Given the description of an element on the screen output the (x, y) to click on. 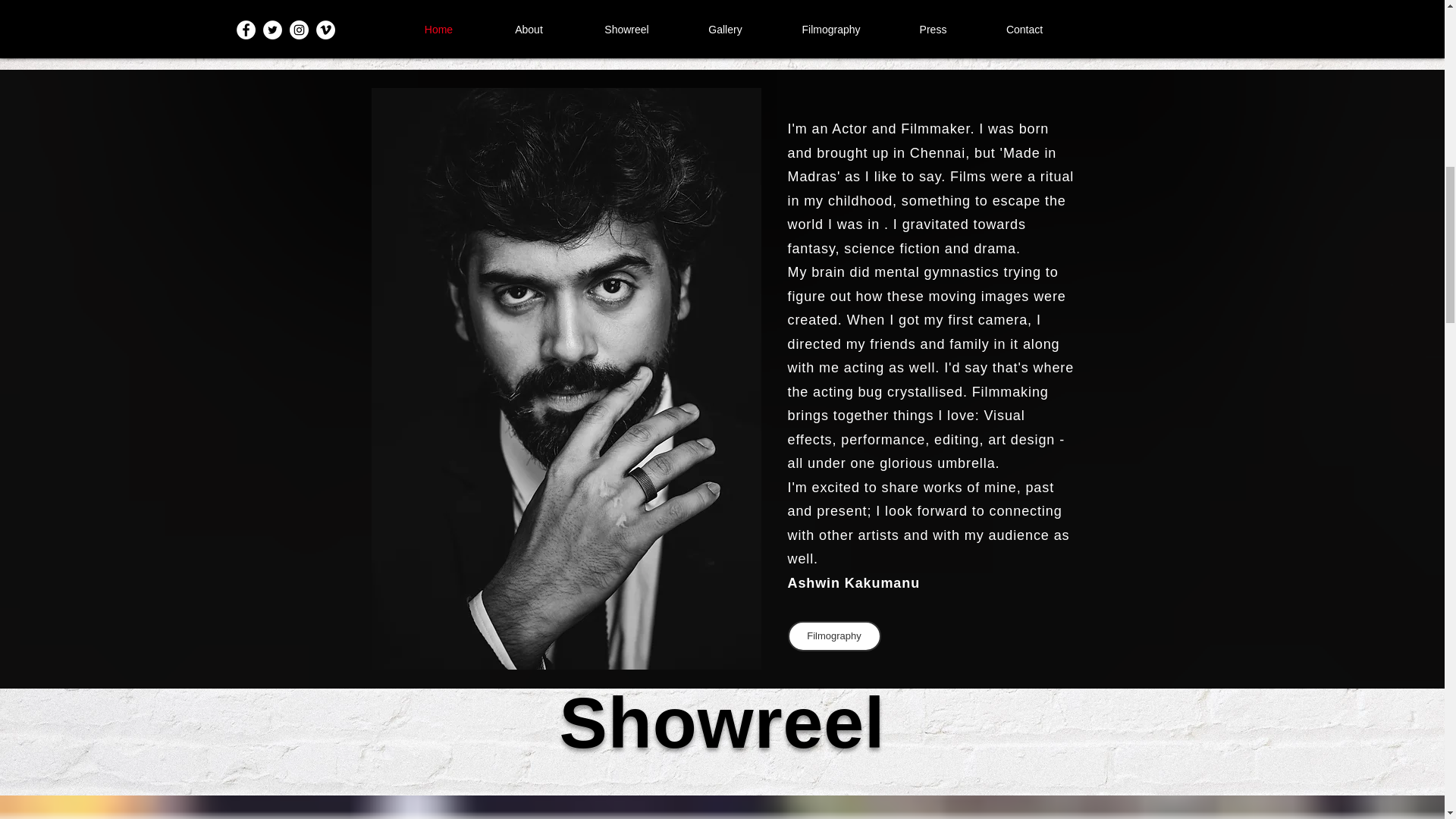
Filmography (833, 635)
